Given the description of an element on the screen output the (x, y) to click on. 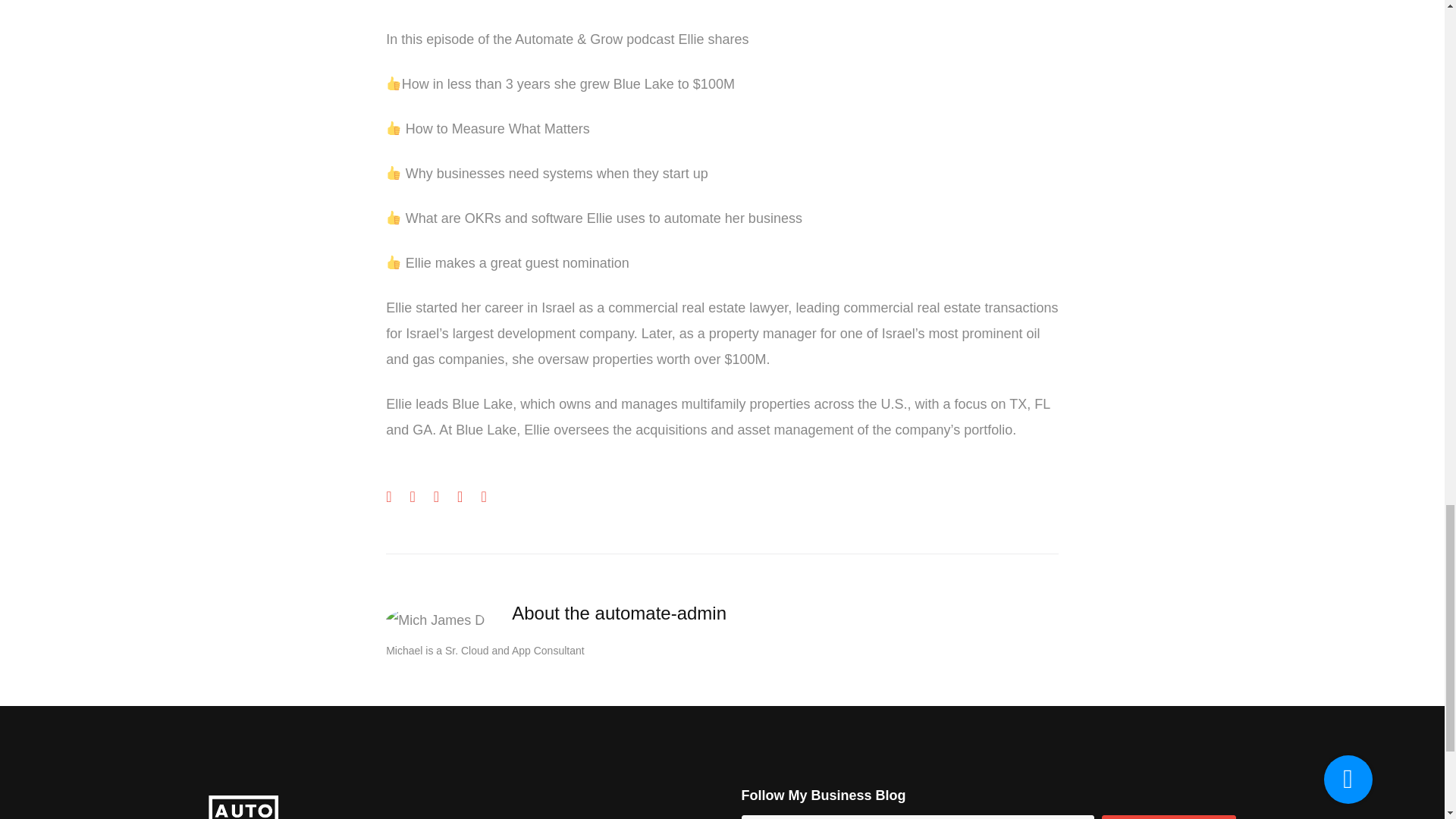
automate-admin (660, 611)
Posts by automate-admin (660, 611)
SUBSCRIBE (1169, 816)
